Given the description of an element on the screen output the (x, y) to click on. 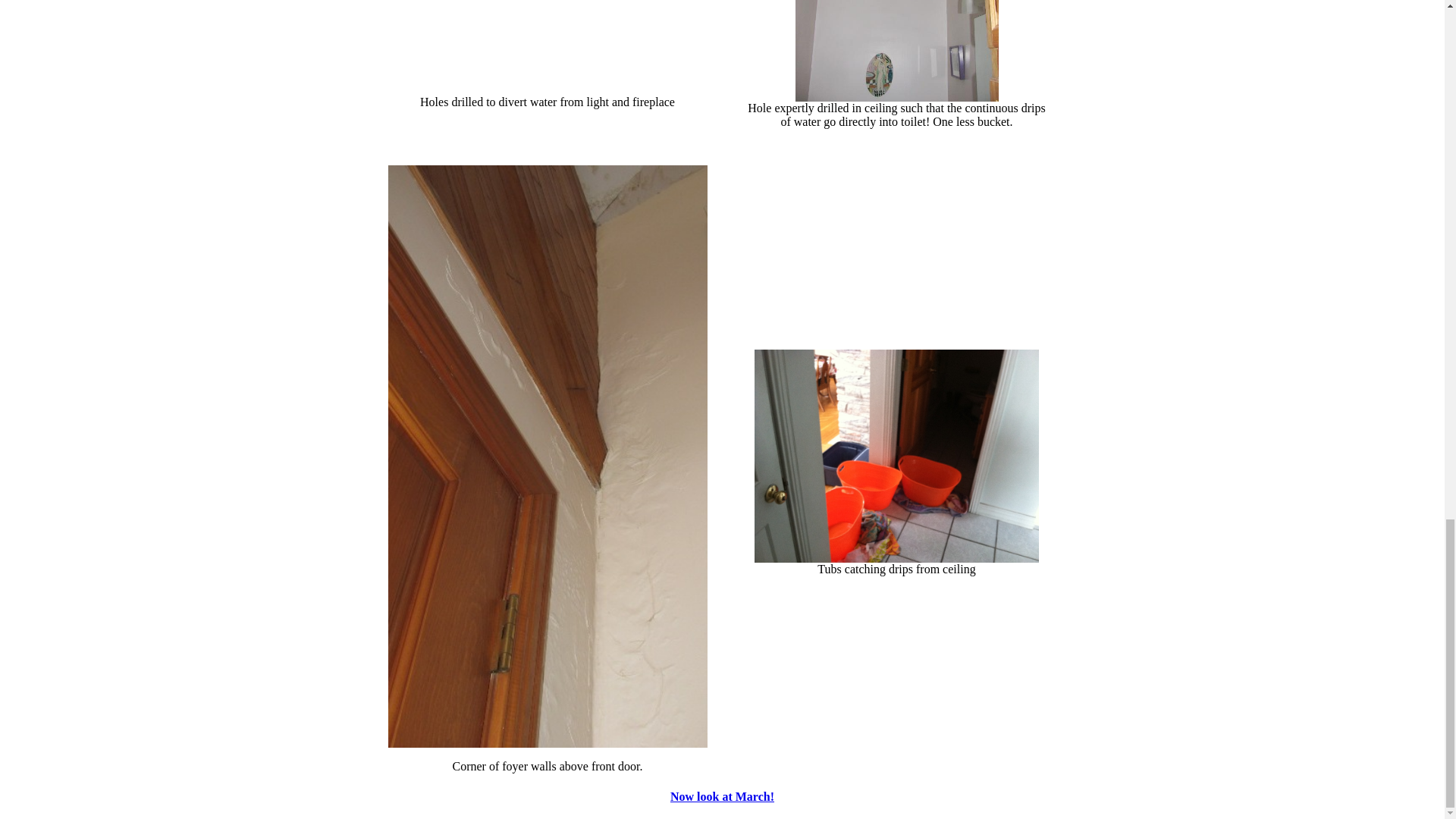
Now look at March! (721, 796)
